Given the description of an element on the screen output the (x, y) to click on. 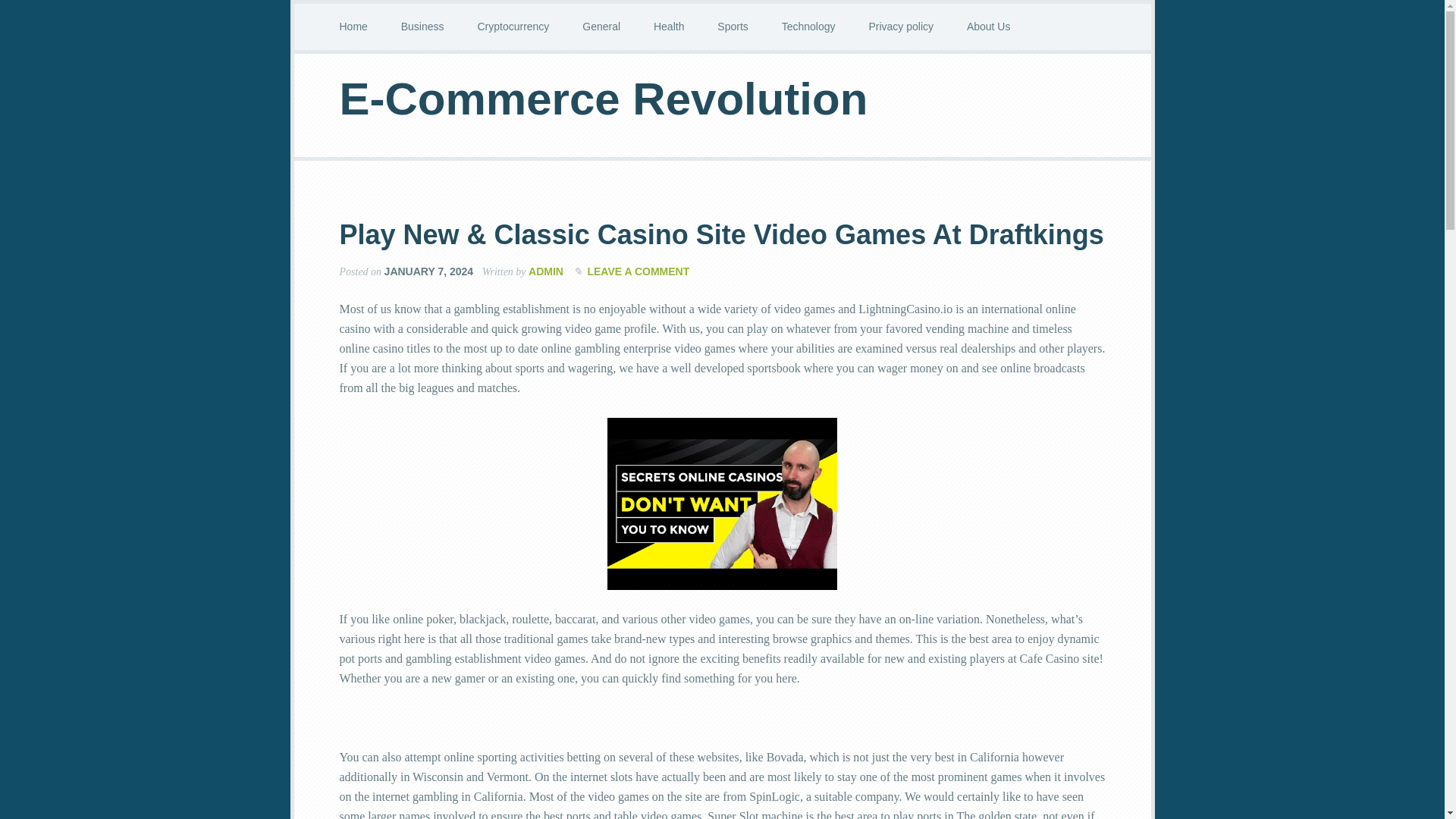
Health (668, 26)
General (600, 26)
Sports (731, 26)
Home (353, 26)
Cryptocurrency (512, 26)
Privacy policy (901, 26)
Technology (808, 26)
LEAVE A COMMENT (637, 271)
Business (422, 26)
ADMIN (545, 271)
E-Commerce Revolution (603, 98)
About Us (989, 26)
